Given the description of an element on the screen output the (x, y) to click on. 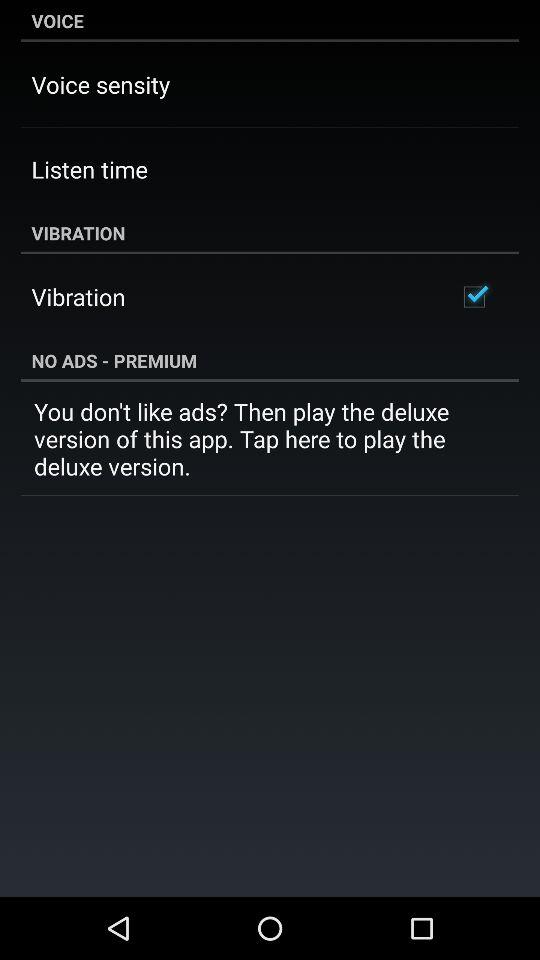
jump to you don t item (270, 438)
